Given the description of an element on the screen output the (x, y) to click on. 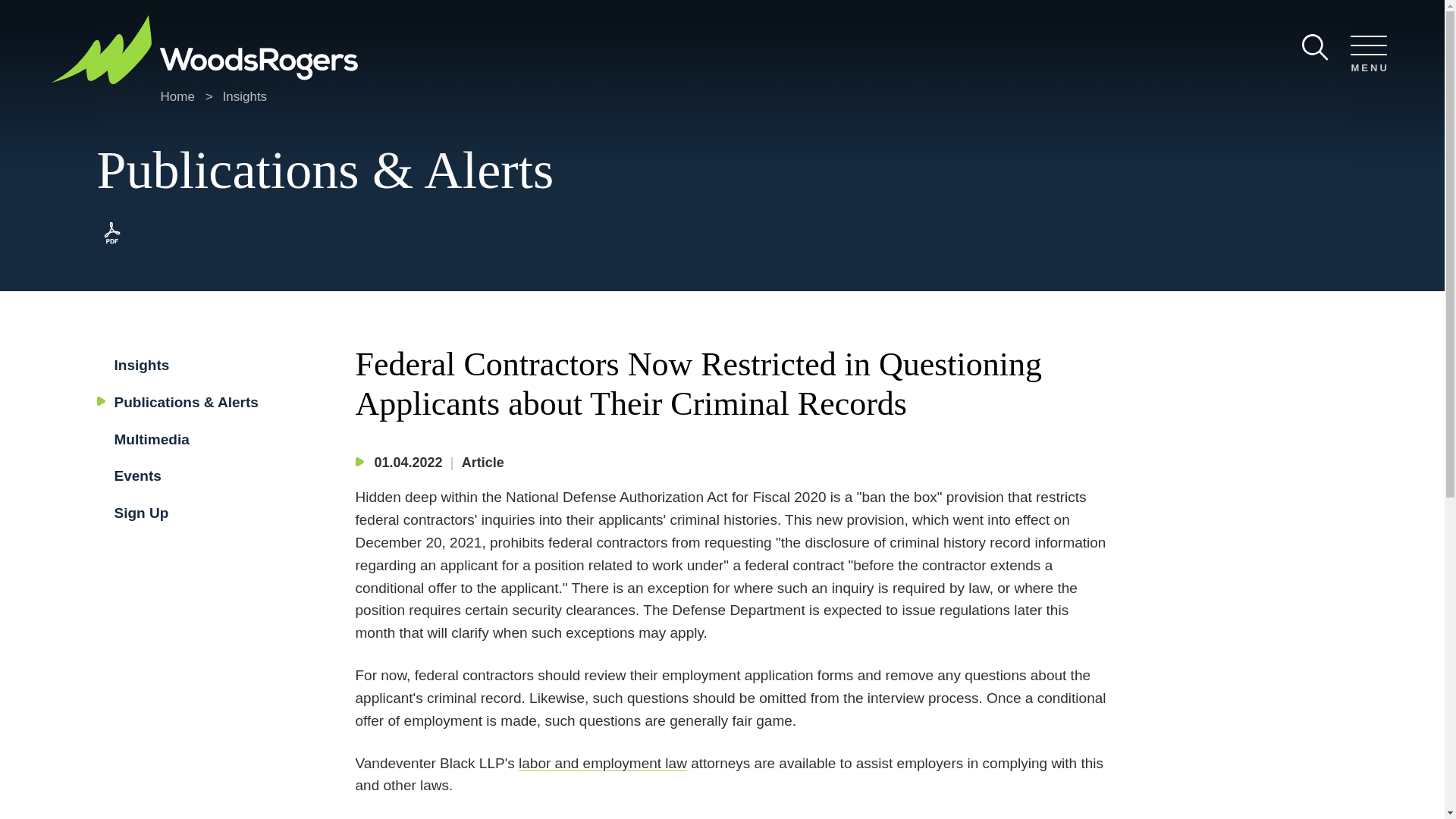
Insights (140, 365)
Multimedia (151, 439)
Main Menu (680, 17)
Insights (244, 96)
PDF (112, 232)
Search (1314, 47)
Sign Up (140, 512)
Events (136, 475)
PDF (112, 243)
labor and employment law (602, 763)
MENU (1367, 55)
Menu (1367, 55)
Print PDF (112, 243)
Home (177, 96)
Main Content (674, 17)
